Given the description of an element on the screen output the (x, y) to click on. 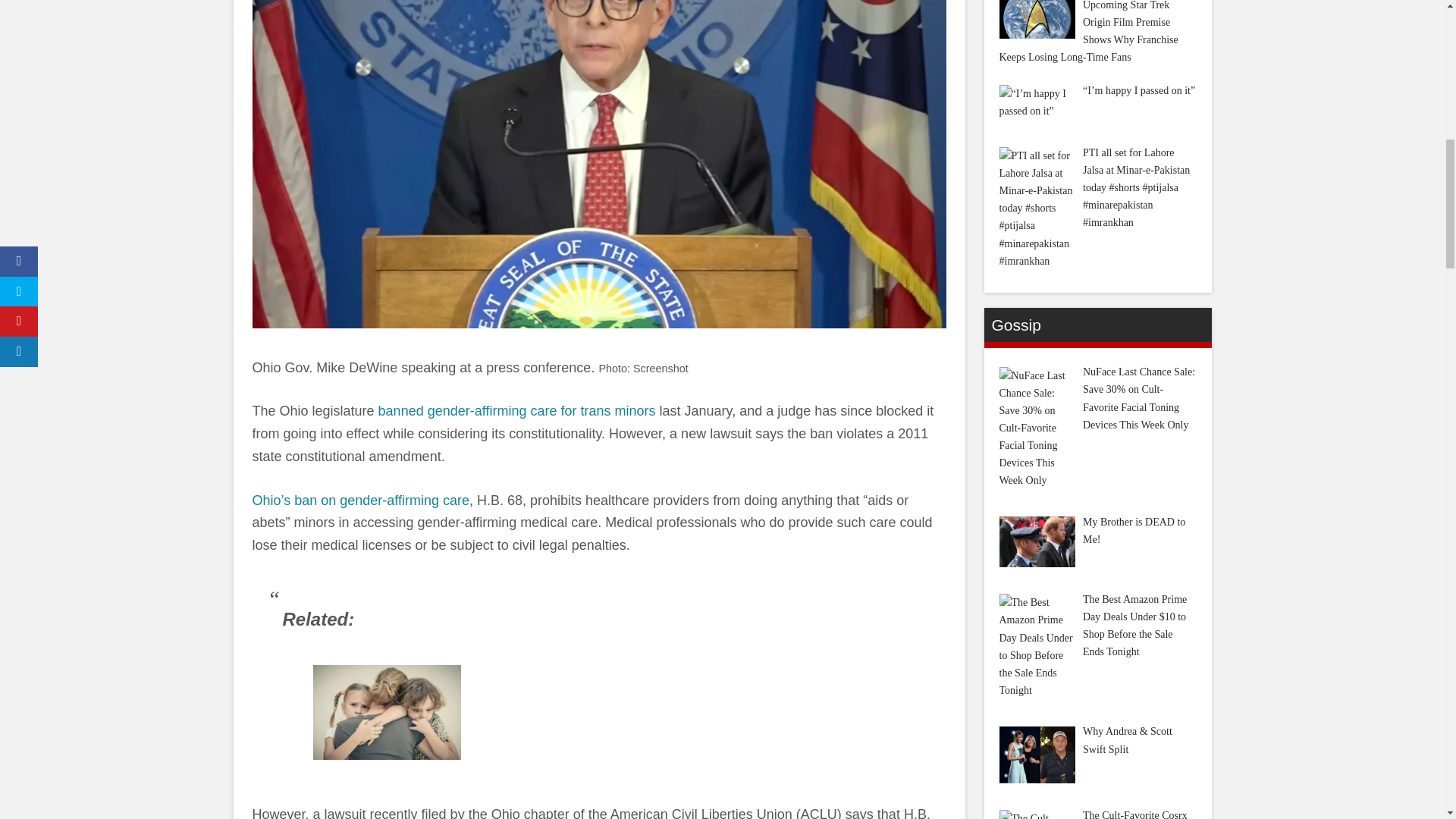
My Brother is DEAD to Me! (1036, 541)
